Given the description of an element on the screen output the (x, y) to click on. 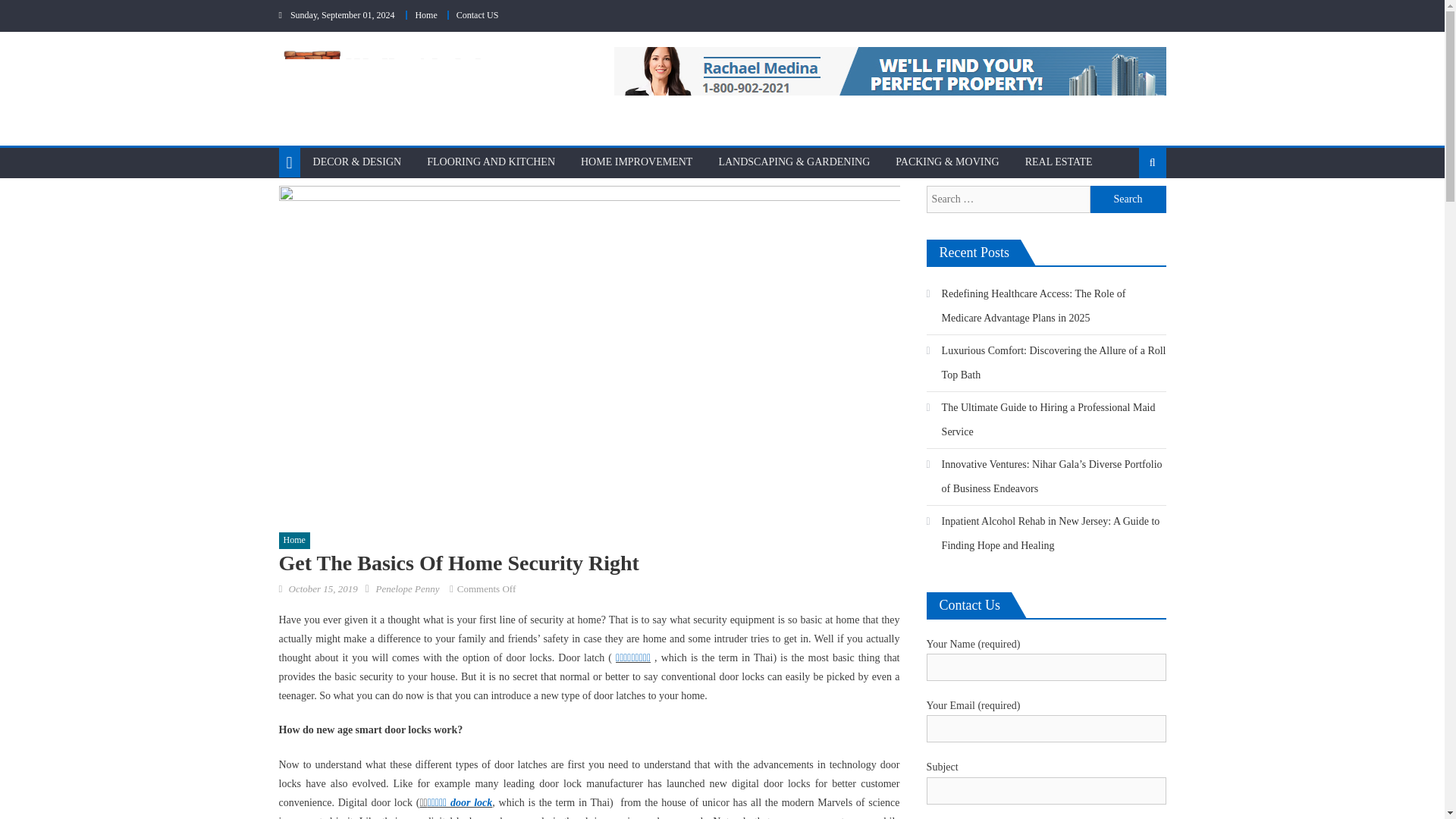
Contact US (478, 14)
Search (1128, 211)
Search (1128, 198)
REAL ESTATE (1058, 162)
Home (294, 540)
Penelope Penny (407, 588)
October 15, 2019 (322, 588)
HOME IMPROVEMENT (636, 162)
FLOORING AND KITCHEN (490, 162)
